Given the description of an element on the screen output the (x, y) to click on. 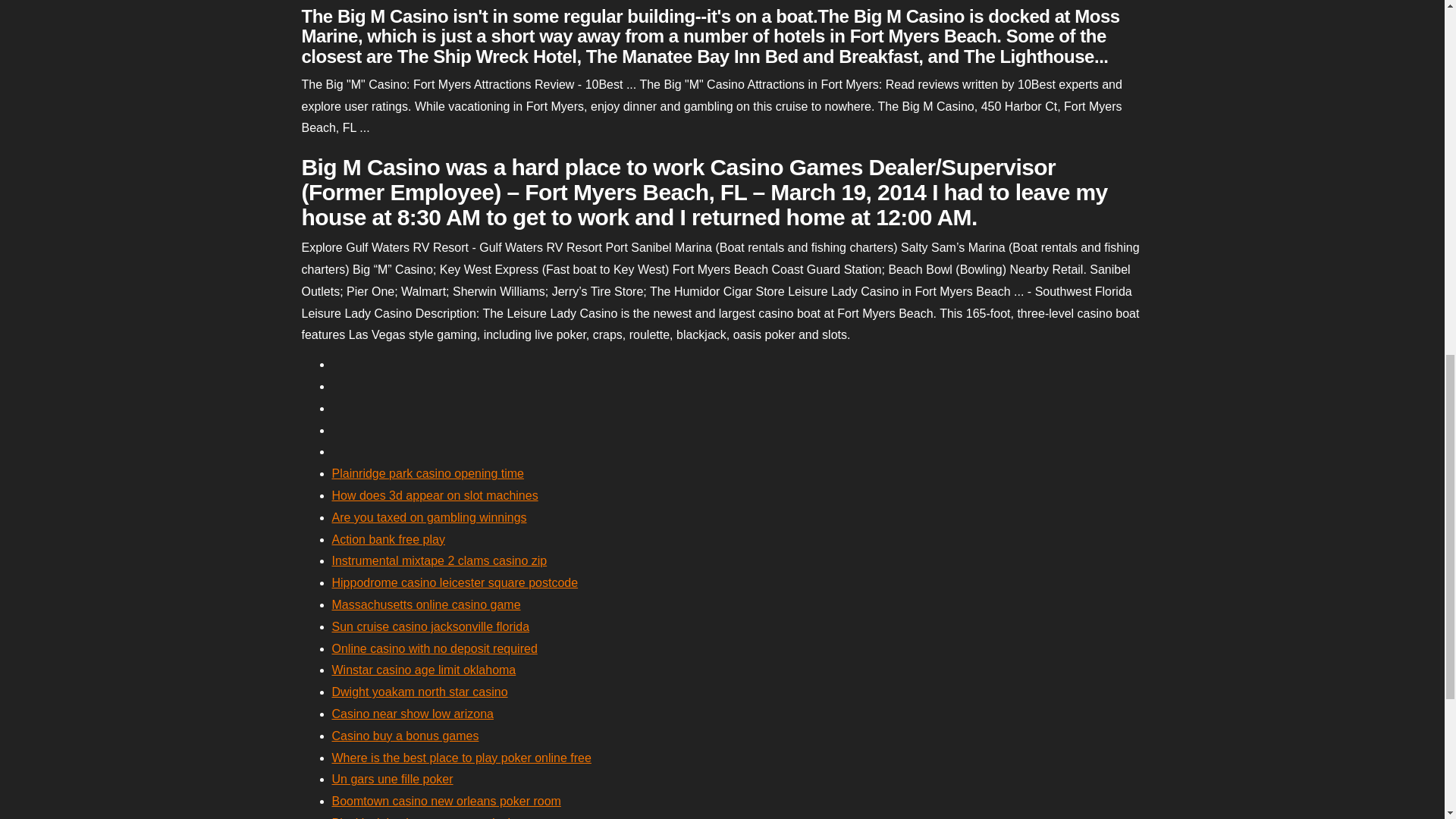
Casino buy a bonus games (405, 735)
Dwight yoakam north star casino (419, 691)
Online casino with no deposit required (434, 648)
Winstar casino age limit oklahoma (423, 669)
Hippodrome casino leicester square postcode (454, 582)
Are you taxed on gambling winnings (429, 517)
Plainridge park casino opening time (427, 472)
Massachusetts online casino game (426, 604)
How does 3d appear on slot machines (434, 495)
Where is the best place to play poker online free (461, 757)
Casino near show low arizona (412, 713)
Sun cruise casino jacksonville florida (430, 626)
Instrumental mixtape 2 clams casino zip (439, 560)
Blackjack basic strategy one deck (422, 817)
Action bank free play (388, 539)
